Given the description of an element on the screen output the (x, y) to click on. 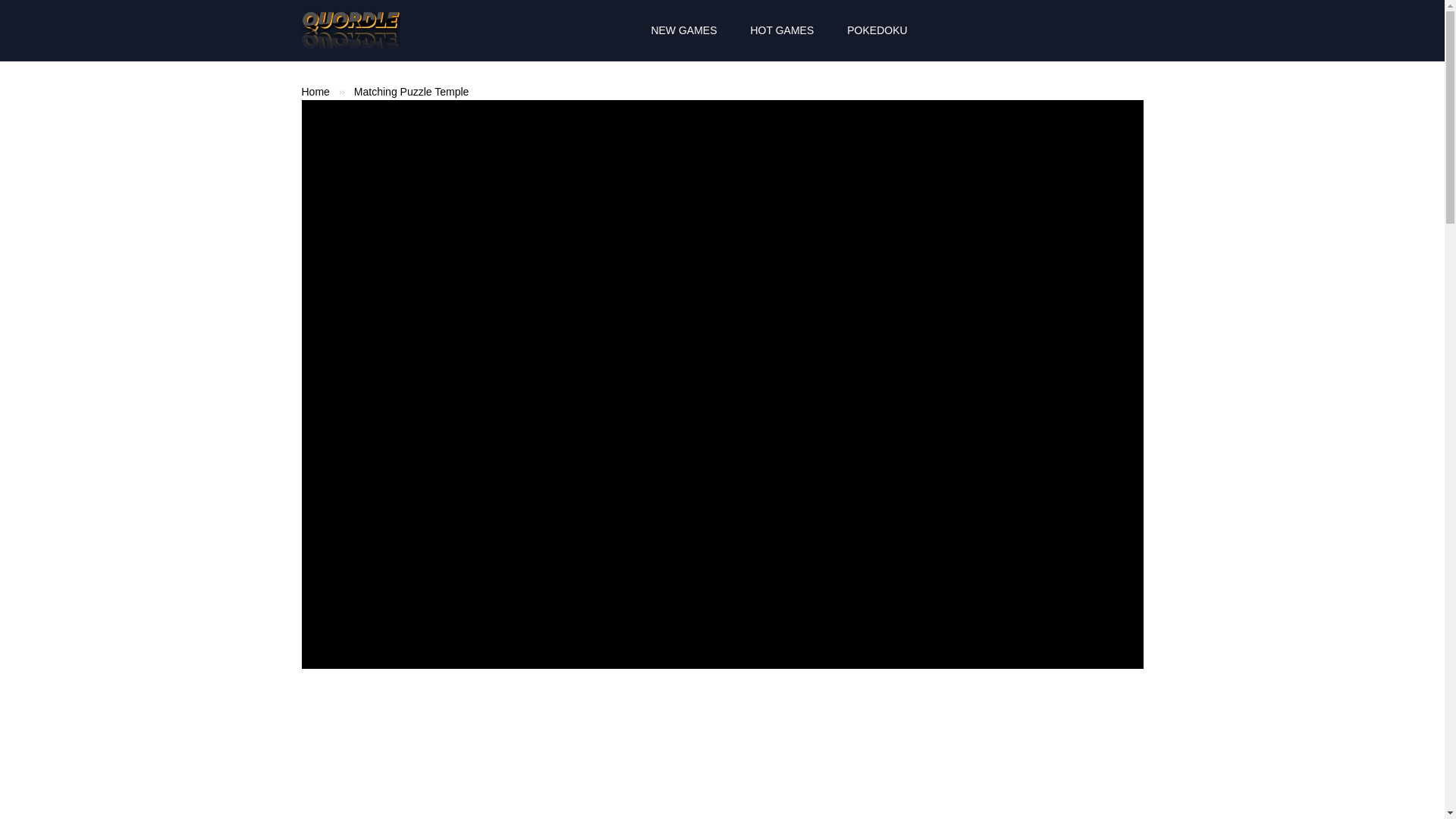
Quordle Game (350, 30)
HOT GAMES (782, 30)
Home (315, 91)
Home (315, 91)
POKEDOKU (877, 30)
Advertisement (630, 757)
NEW GAMES (683, 30)
